Given the description of an element on the screen output the (x, y) to click on. 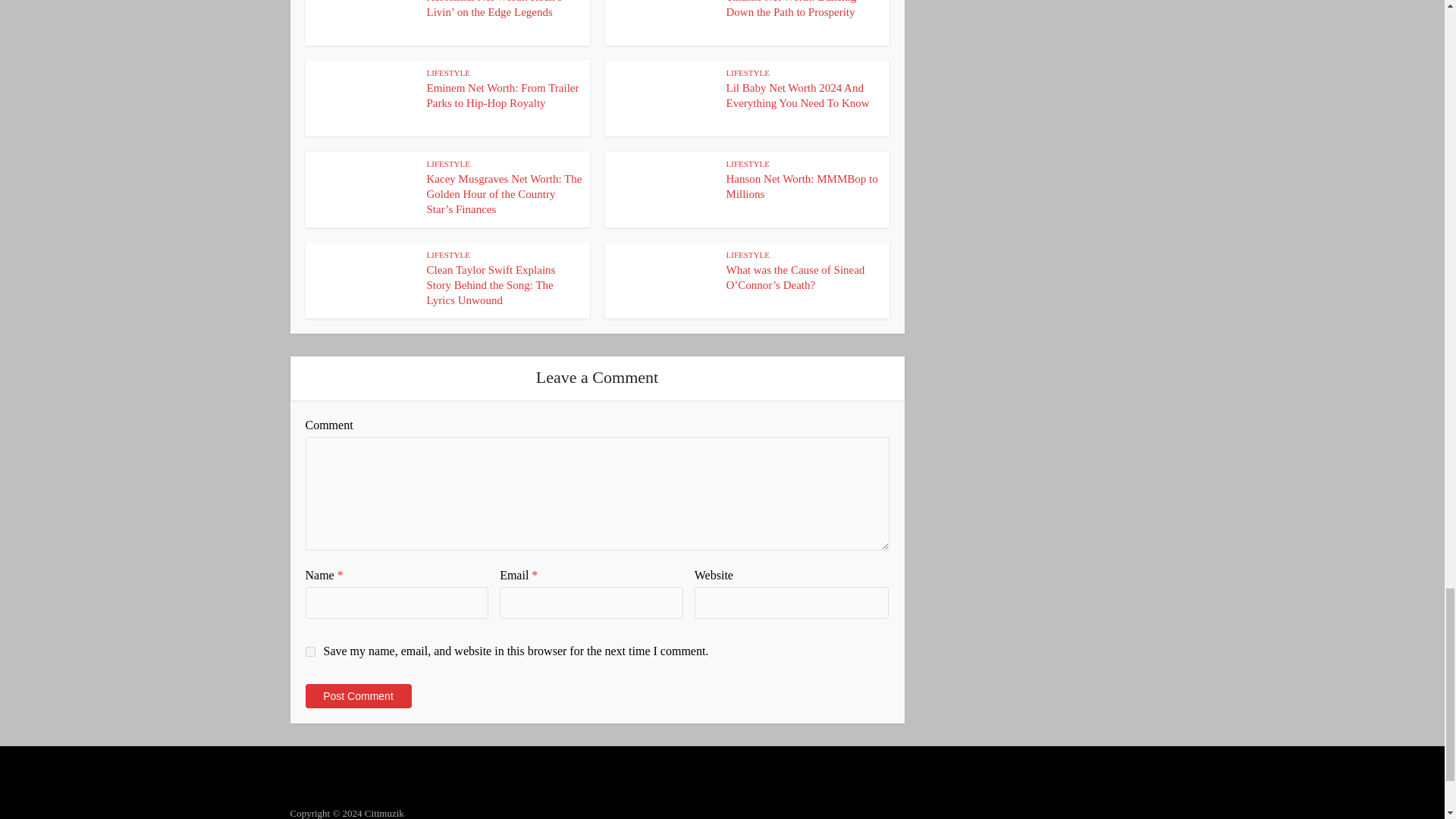
Post Comment (357, 695)
Tinashe Net Worth: Dancing Down the Path to Prosperity (791, 9)
yes (309, 651)
Hanson Net Worth: MMMBop to Millions (801, 185)
Lil Baby Net Worth 2024 And Everything You Need To Know (797, 94)
Eminem Net Worth: From Trailer Parks to Hip-Hop Royalty (502, 94)
